Given the description of an element on the screen output the (x, y) to click on. 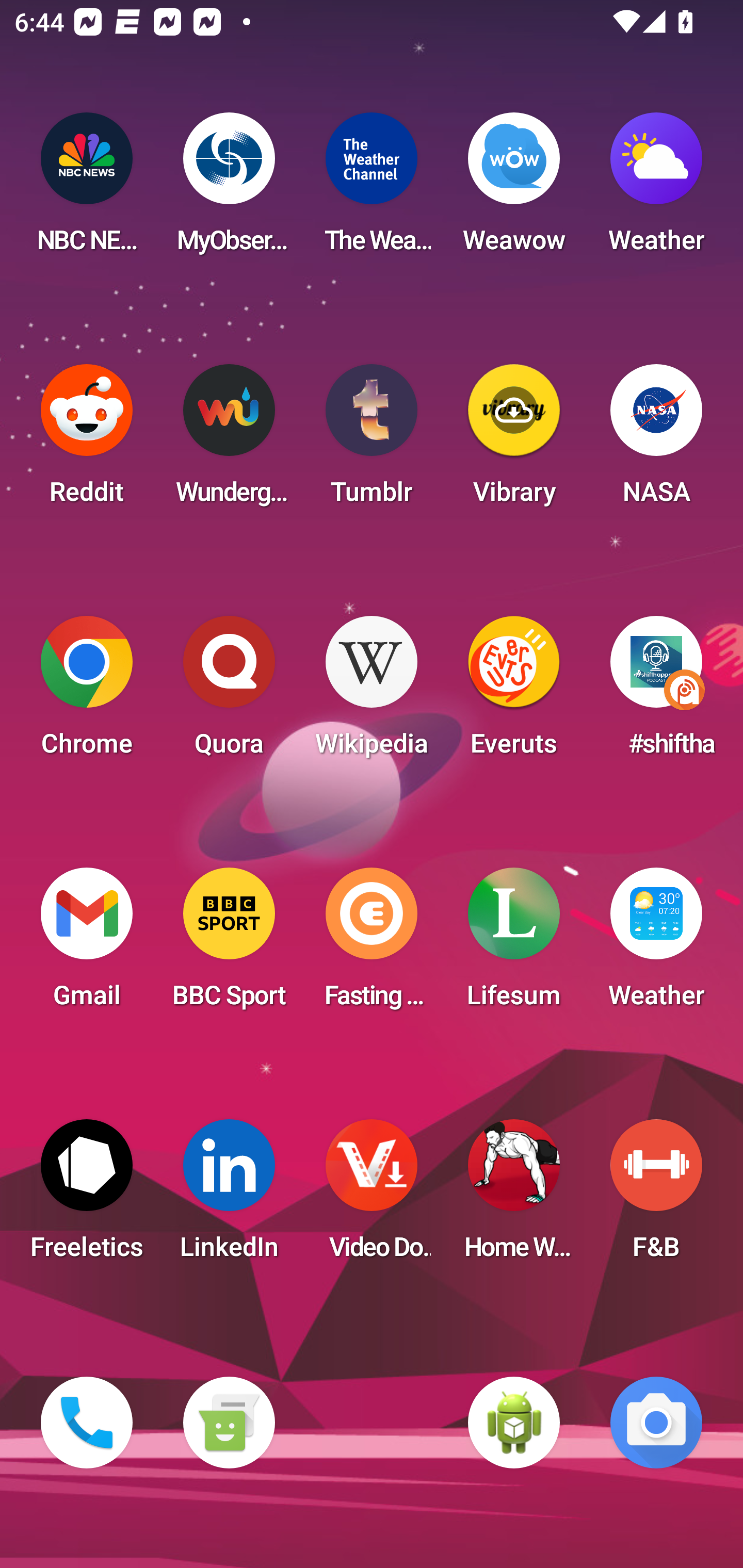
NBC NEWS (86, 188)
MyObservatory (228, 188)
The Weather Channel (371, 188)
Weawow (513, 188)
Weather (656, 188)
Reddit (86, 440)
Wunderground (228, 440)
Tumblr (371, 440)
Vibrary (513, 440)
NASA (656, 440)
Chrome (86, 692)
Quora (228, 692)
Wikipedia (371, 692)
Everuts (513, 692)
#shifthappens in the Digital Workplace Podcast (656, 692)
Gmail (86, 943)
BBC Sport (228, 943)
Fasting Coach (371, 943)
Lifesum (513, 943)
Weather (656, 943)
Freeletics (86, 1195)
LinkedIn (228, 1195)
Video Downloader & Ace Player (371, 1195)
Home Workout (513, 1195)
F&B (656, 1195)
Phone (86, 1422)
Messaging (228, 1422)
WebView Browser Tester (513, 1422)
Camera (656, 1422)
